Given the description of an element on the screen output the (x, y) to click on. 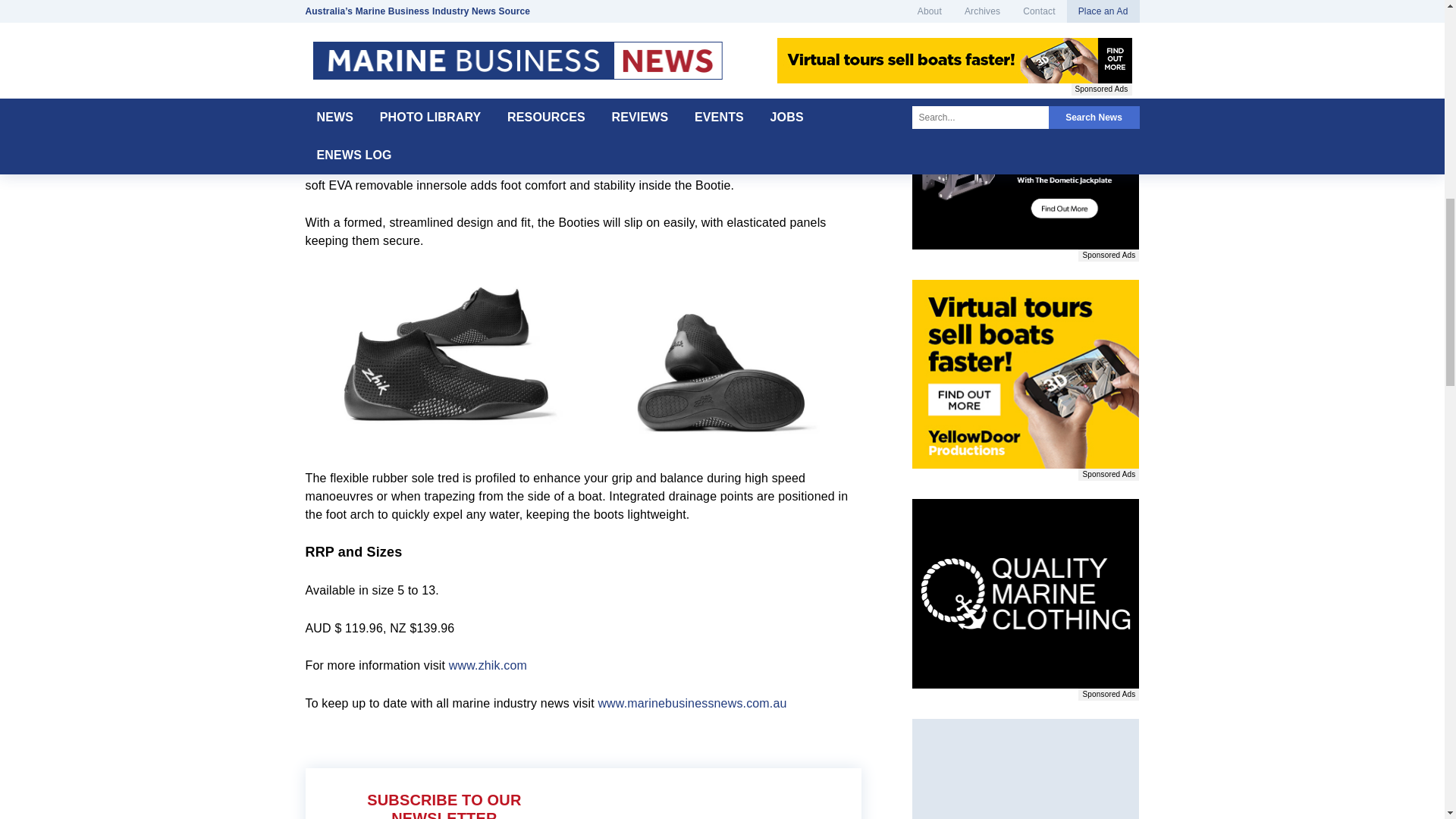
www.zhik.com (487, 665)
www.marinebusinessnews.com.au (691, 703)
